Given the description of an element on the screen output the (x, y) to click on. 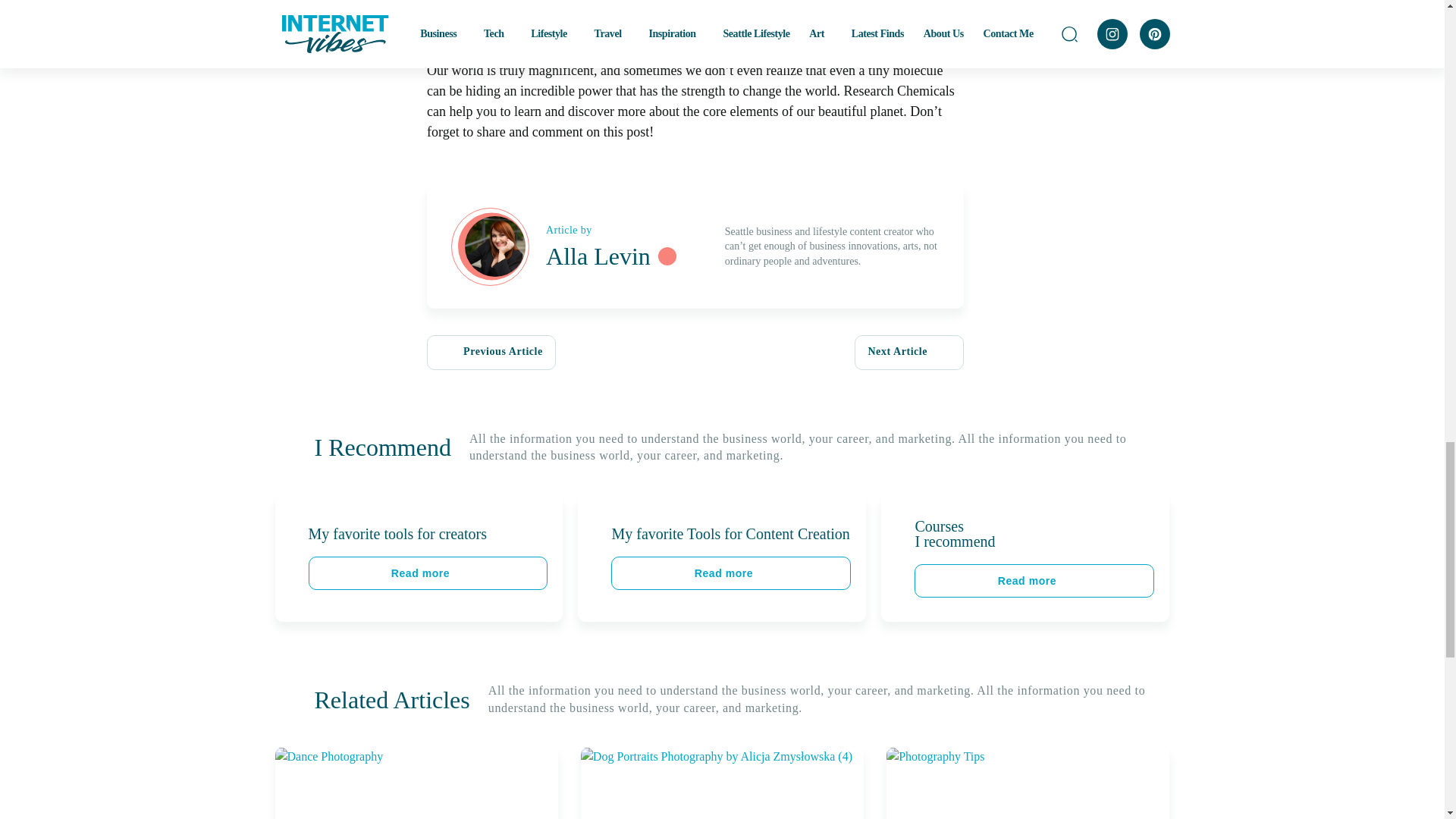
Beautiful Chemistry: Crystallization (669, 19)
